Given the description of an element on the screen output the (x, y) to click on. 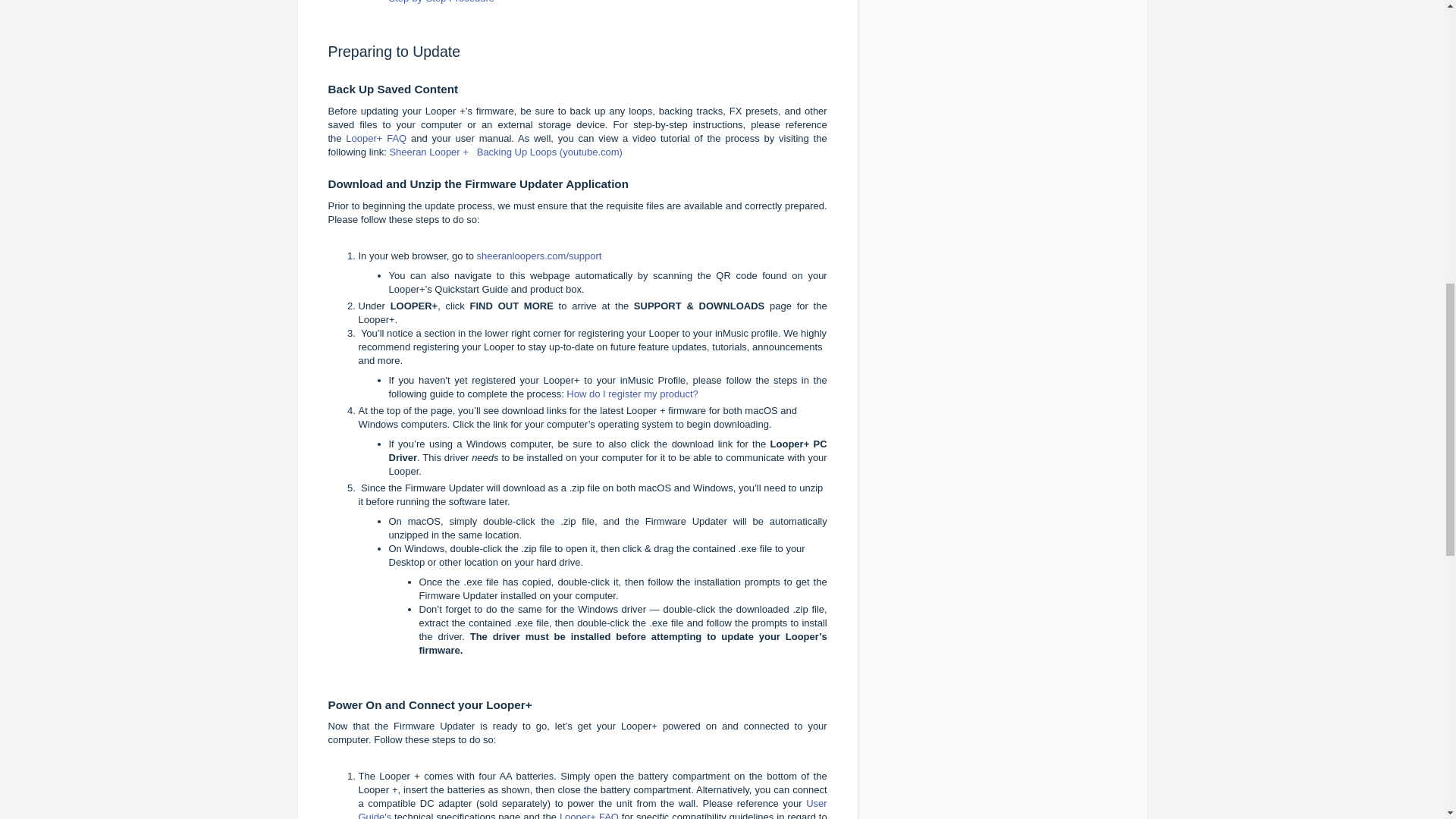
How do I register my product? (631, 393)
Step-by-Step Procedure  (442, 2)
 User Guide's (592, 808)
